Given the description of an element on the screen output the (x, y) to click on. 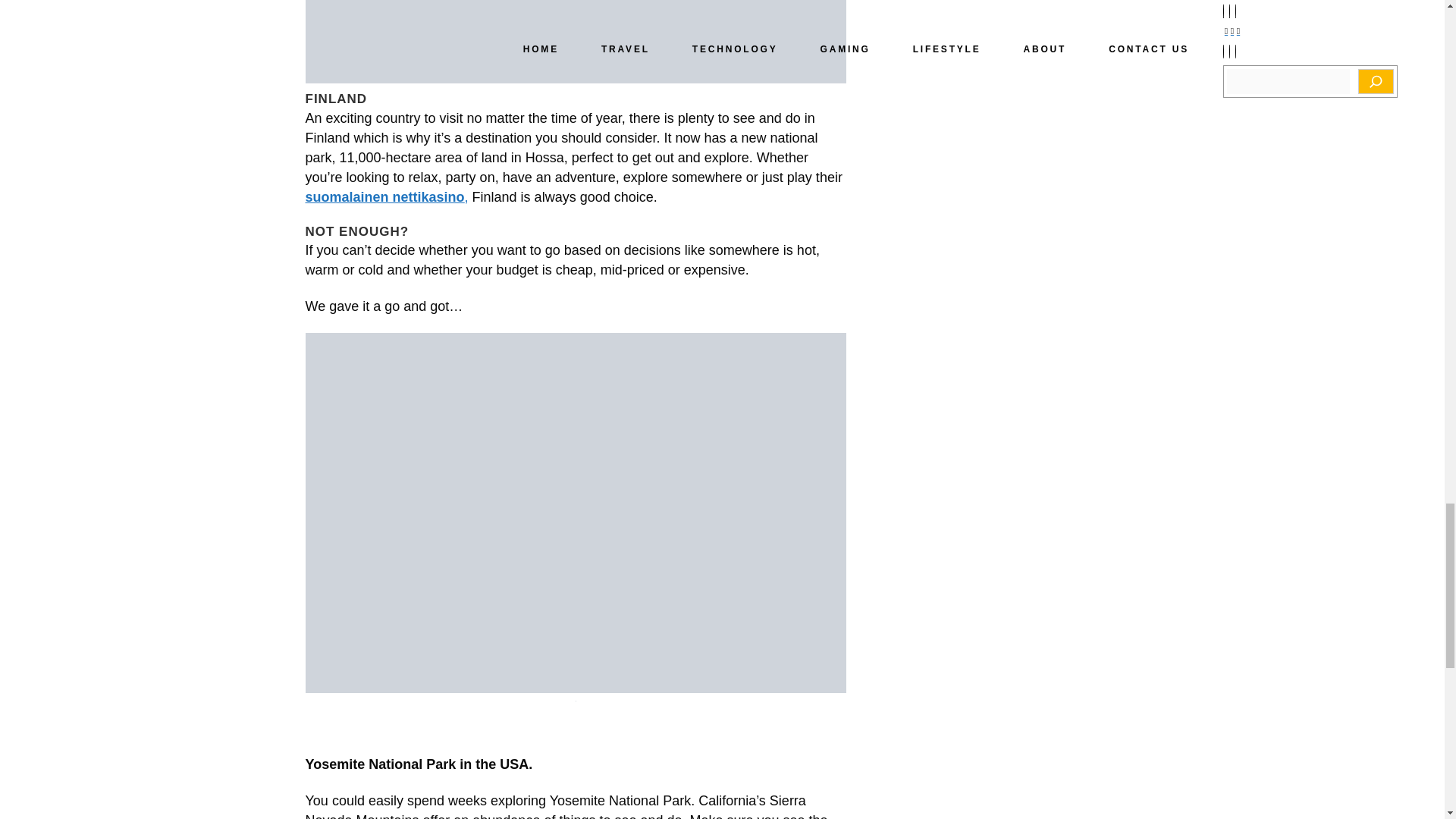
suomalainen nettikasino, (385, 196)
